Given the description of an element on the screen output the (x, y) to click on. 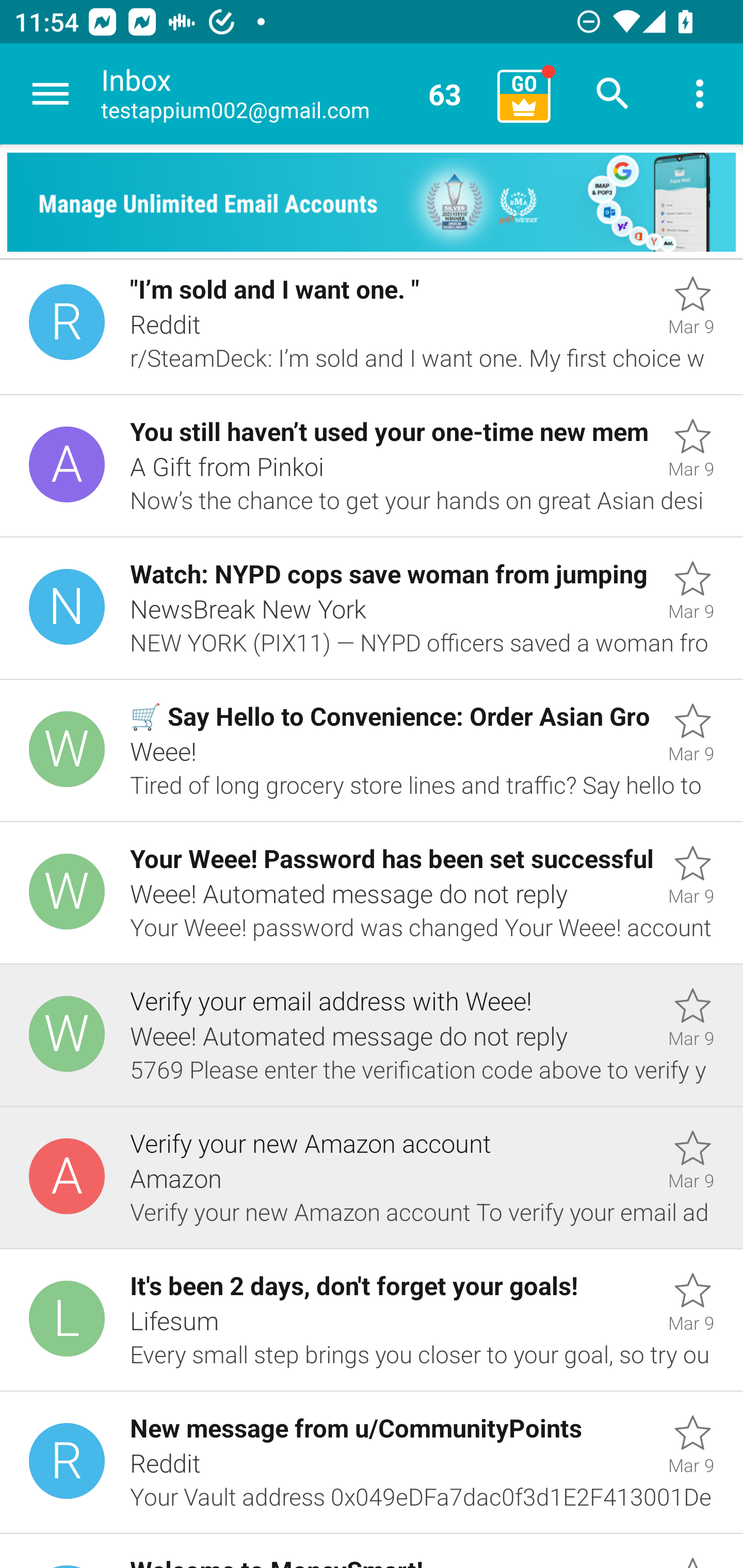
Navigate up (50, 93)
Inbox testappium002@gmail.com 63 (291, 93)
Search (612, 93)
More options (699, 93)
